Given the description of an element on the screen output the (x, y) to click on. 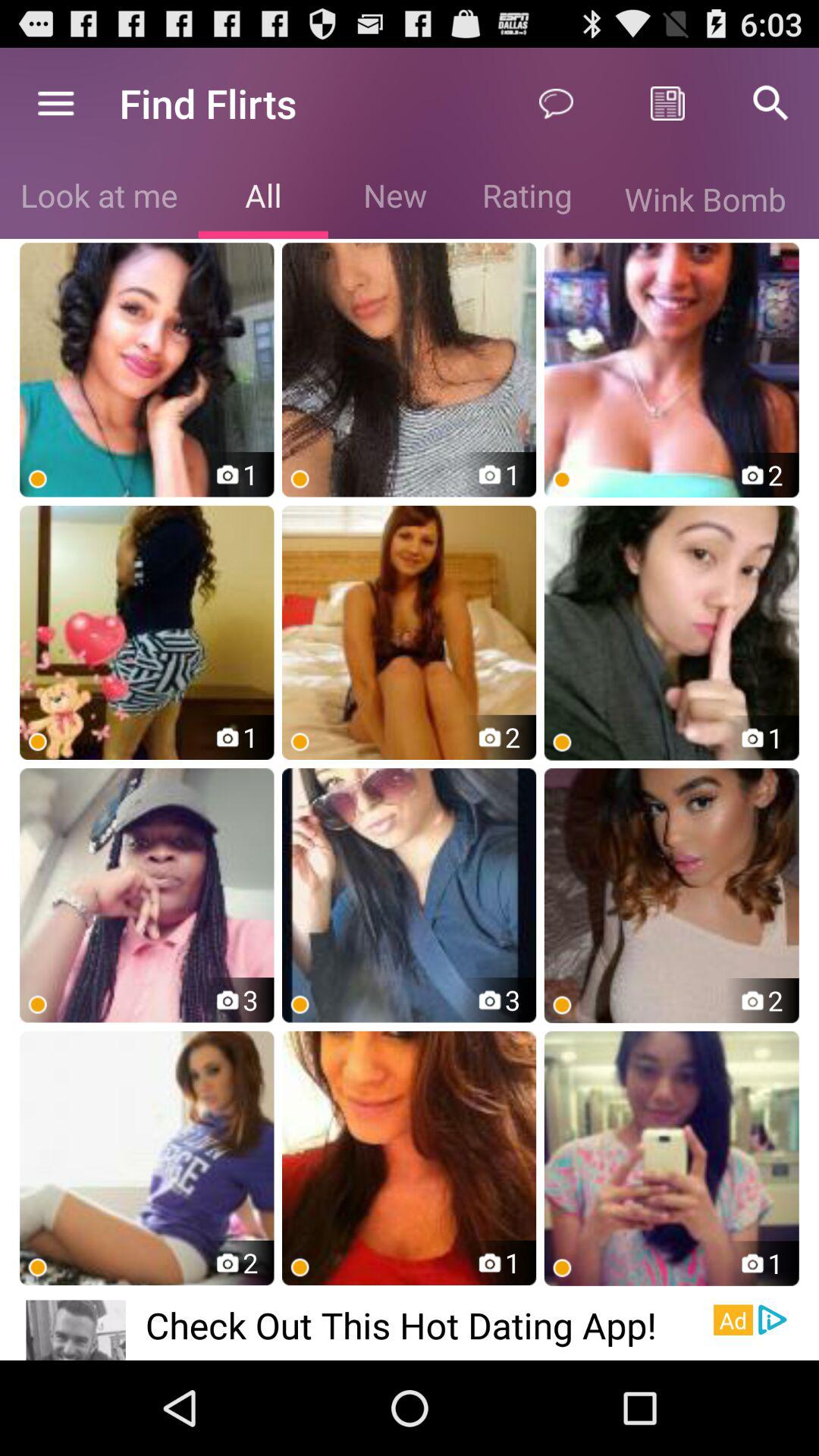
launch app next to check out this app (75, 1330)
